Given the description of an element on the screen output the (x, y) to click on. 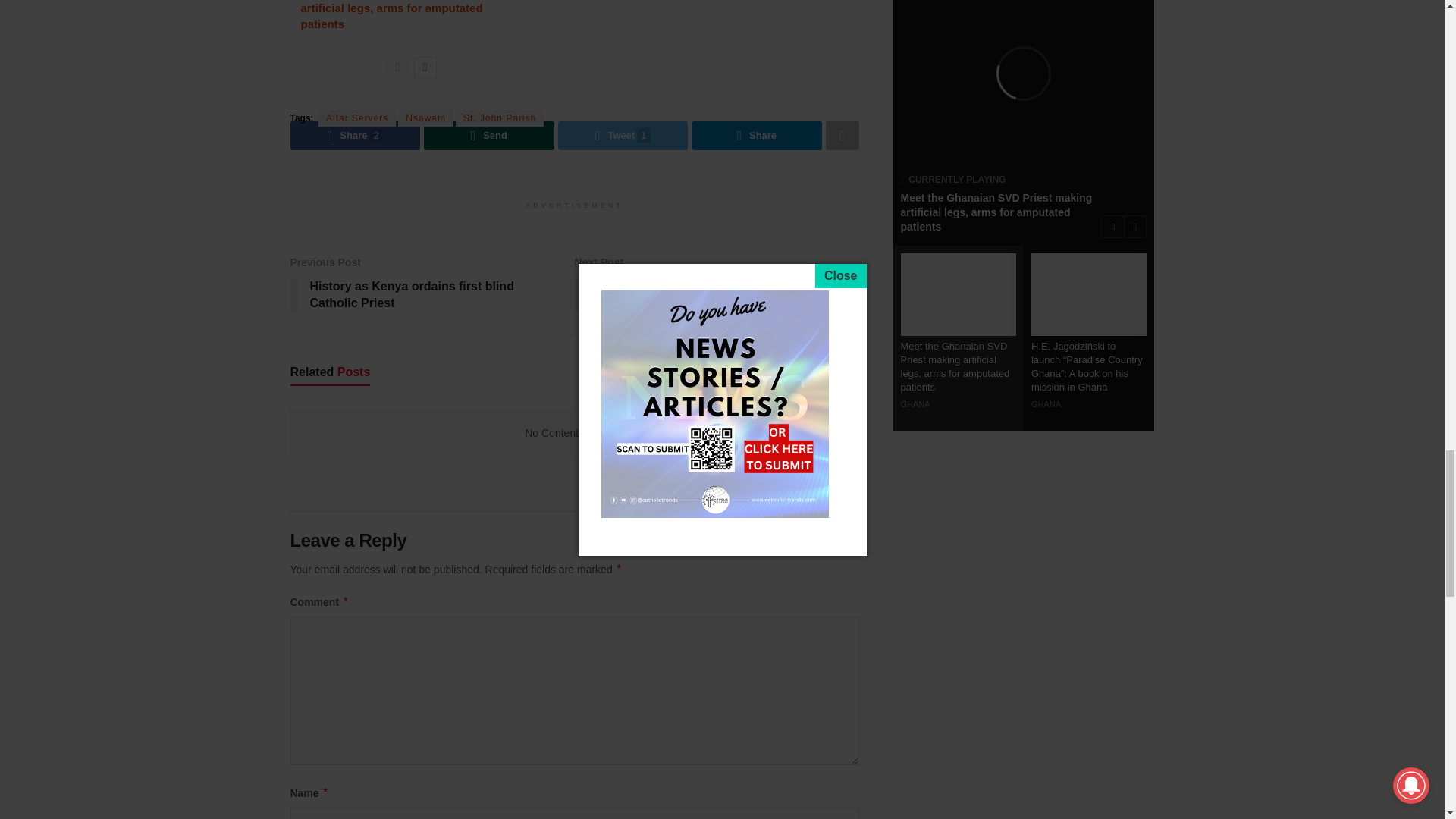
Previous (397, 66)
Next (424, 66)
